Given the description of an element on the screen output the (x, y) to click on. 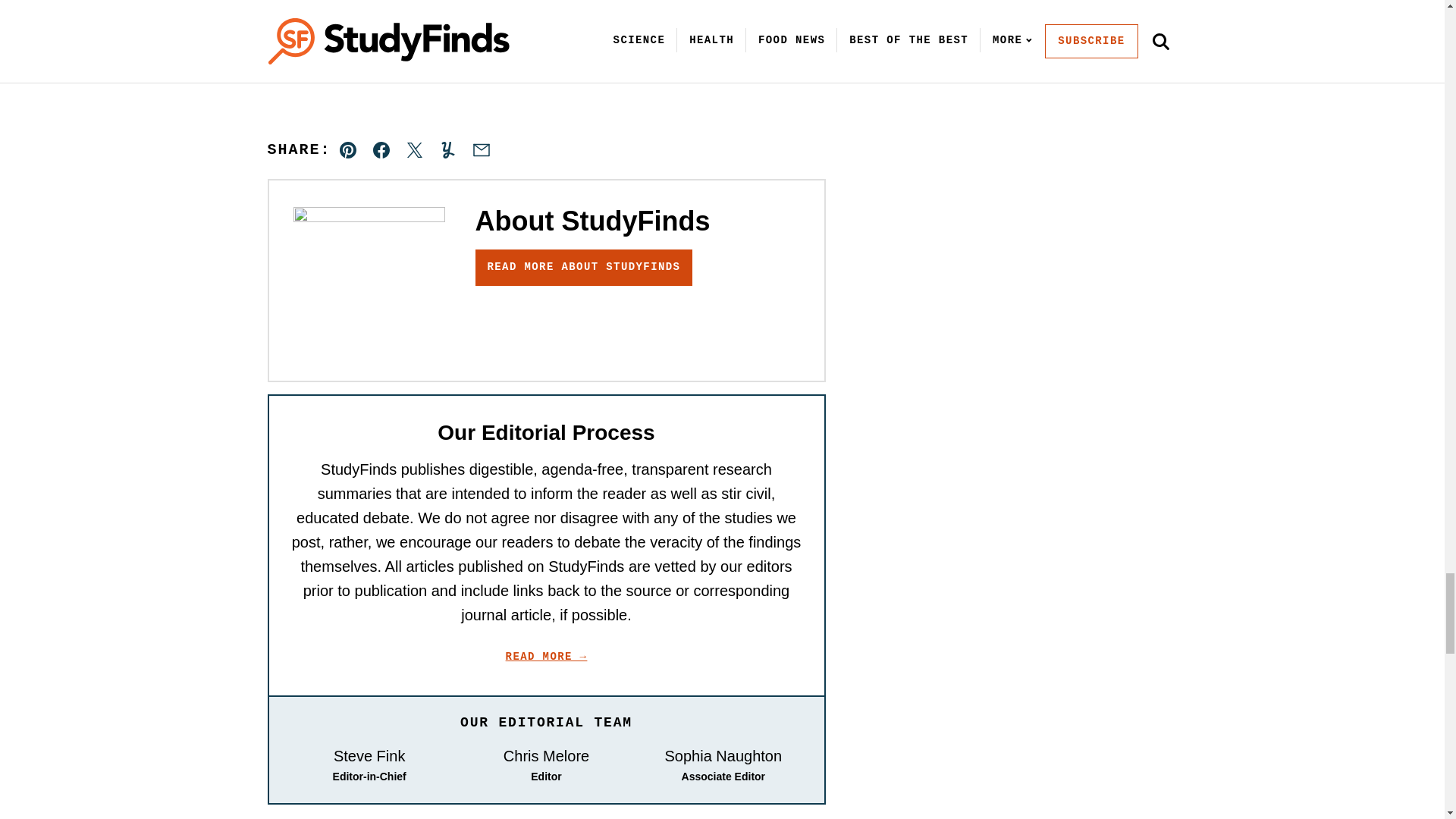
Share on Twitter (413, 150)
Share on Facebook (381, 150)
Share on Pinterest (348, 150)
Share on Yummly (447, 150)
Share via Email (480, 150)
